Given the description of an element on the screen output the (x, y) to click on. 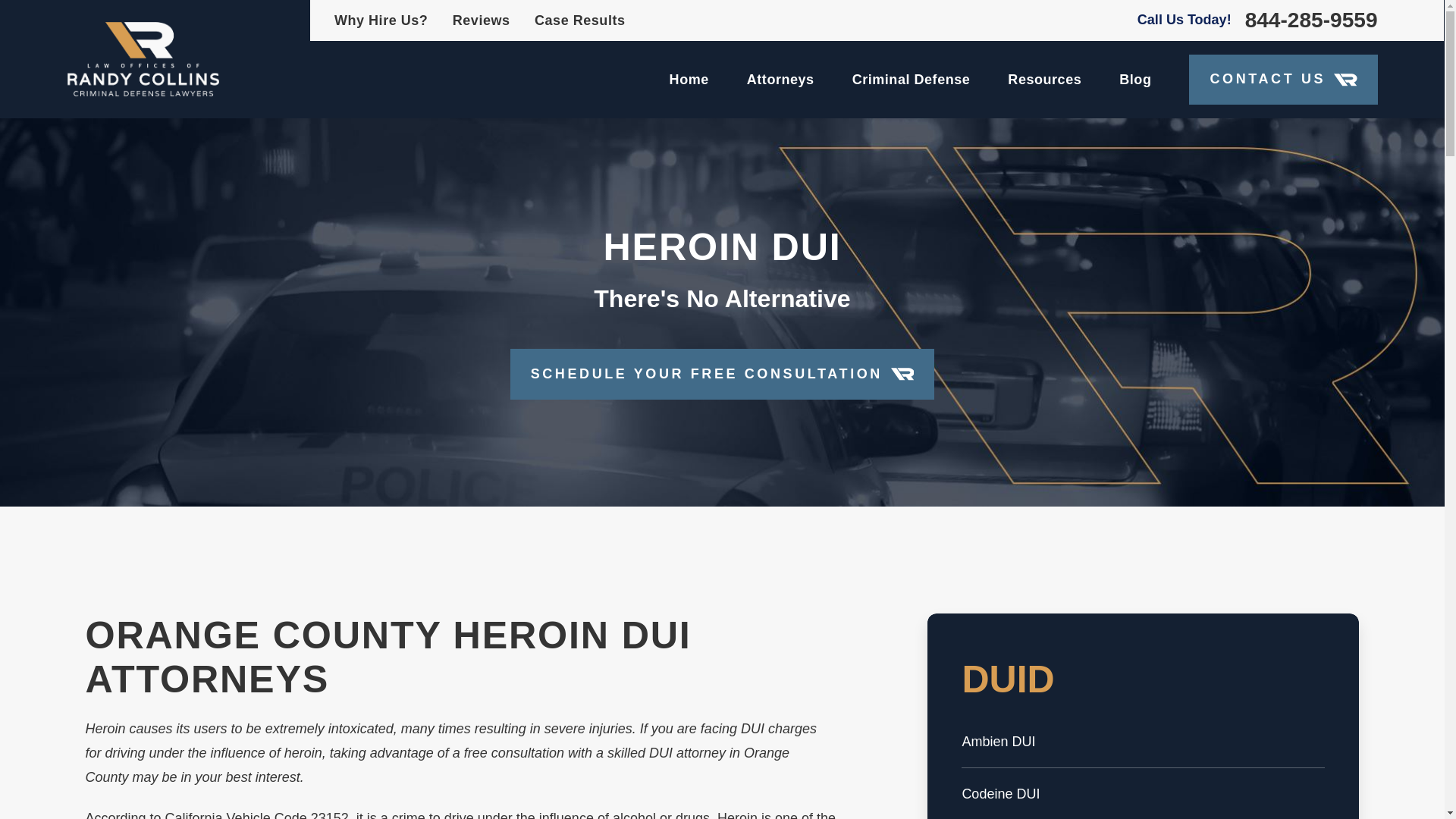
Case Results (580, 20)
Why Hire Us? (381, 20)
Home (689, 79)
Reviews (481, 20)
844-285-9559 (1310, 20)
Criminal Defense (911, 79)
Attorneys (779, 79)
Resources (1044, 79)
Home (142, 59)
